Given the description of an element on the screen output the (x, y) to click on. 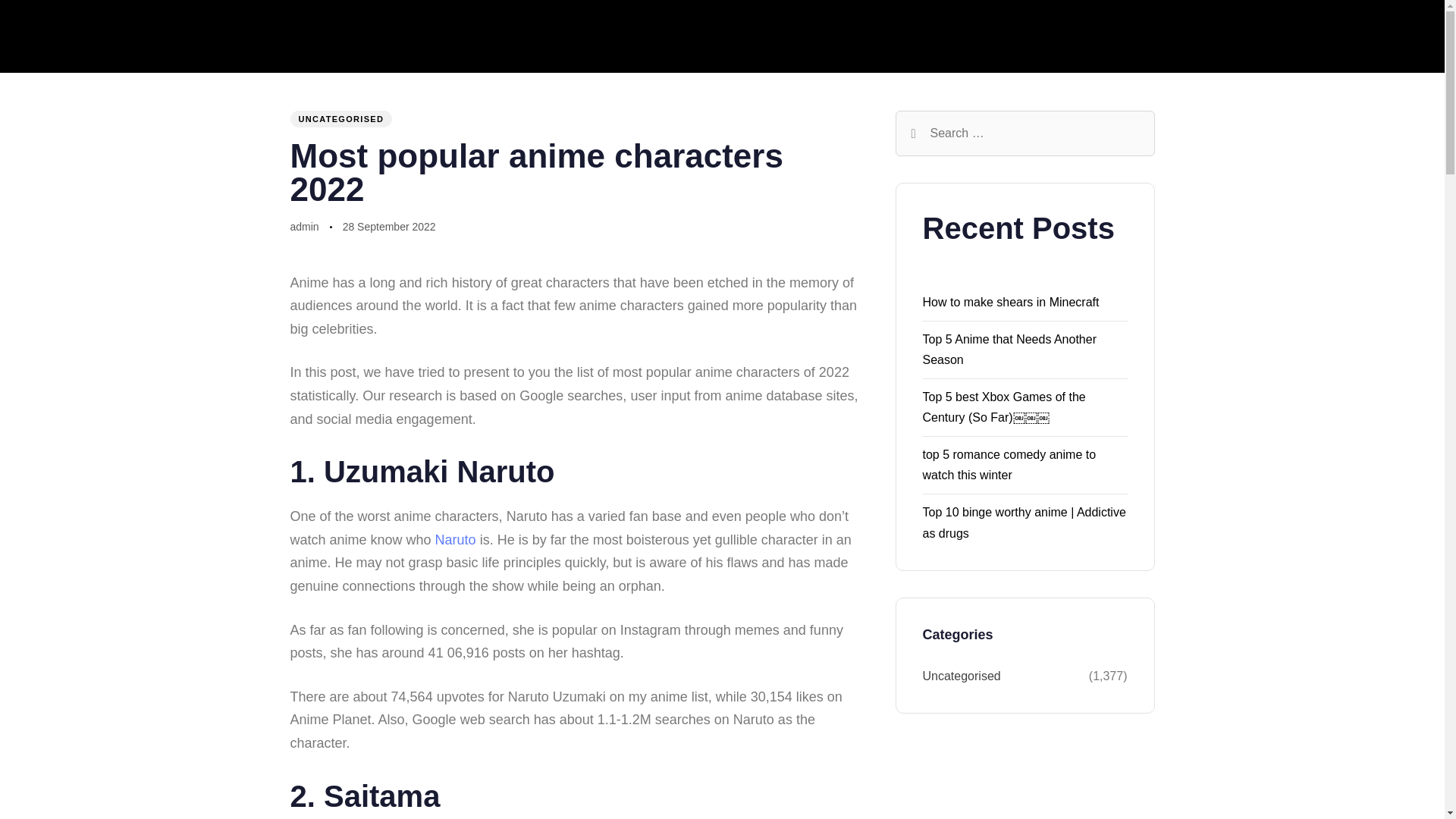
Naruto (455, 539)
Posts by admin (303, 226)
top 5 romance comedy anime to watch this winter (1008, 464)
28 September 2022 (388, 227)
Top 5 Anime that Needs Another Season (1008, 349)
How to make shears in Minecraft (1010, 301)
admin (303, 226)
UNCATEGORISED (340, 118)
Uncategorised (1004, 675)
